Given the description of an element on the screen output the (x, y) to click on. 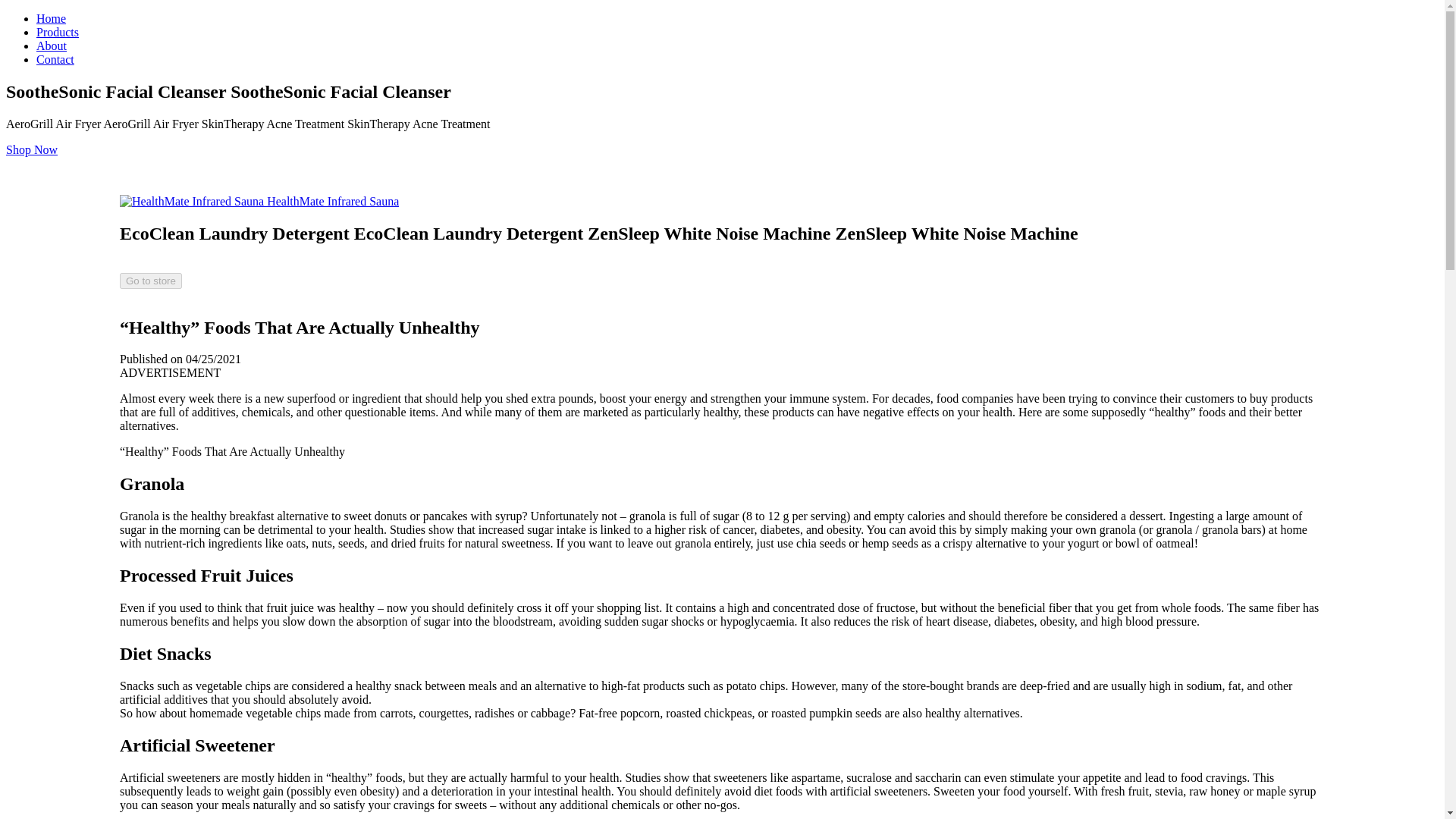
About (51, 45)
Go to store (150, 279)
Shop Now (31, 149)
Home (50, 18)
Products (57, 31)
Go to store (150, 280)
Contact (55, 59)
